Given the description of an element on the screen output the (x, y) to click on. 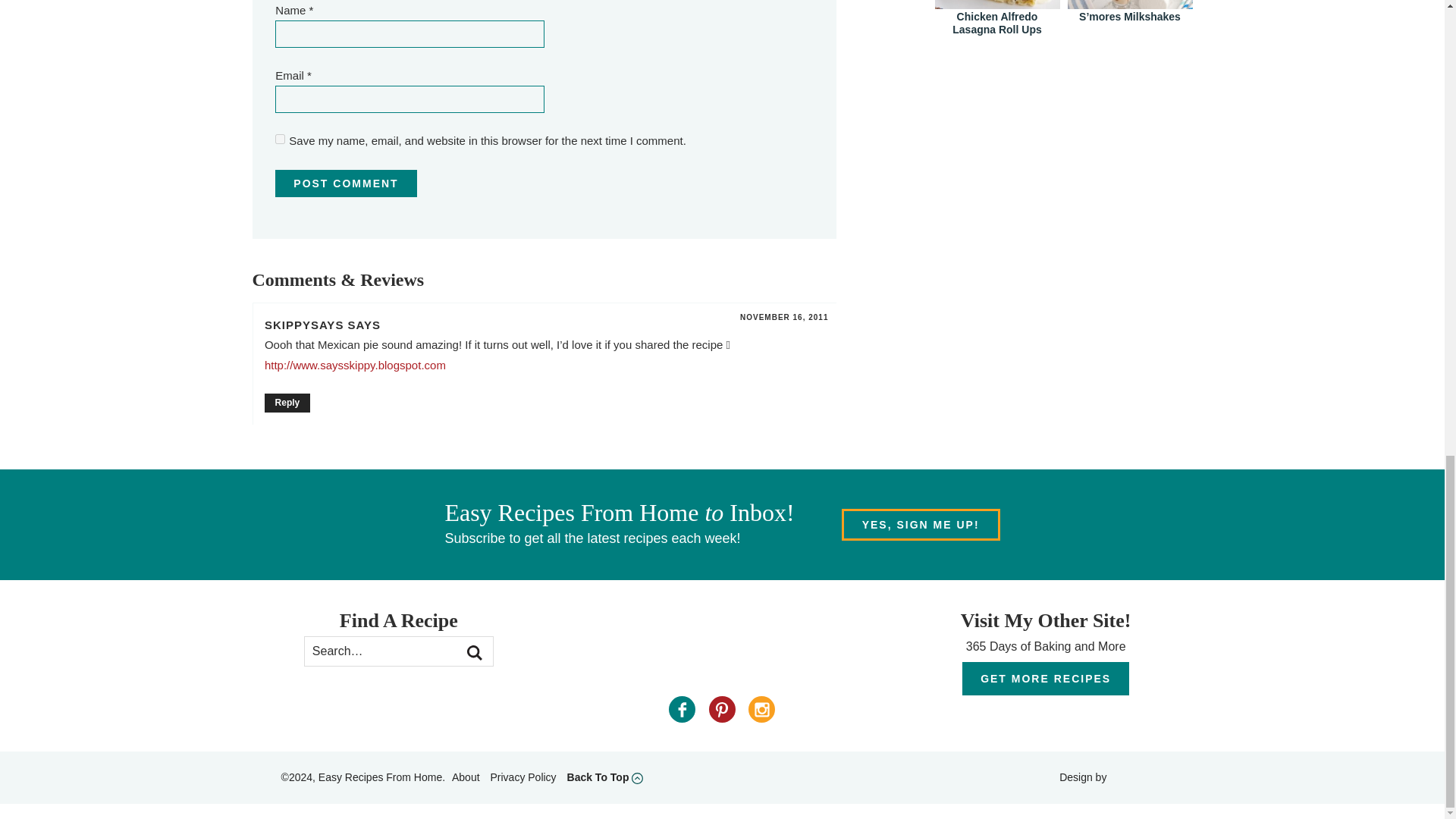
Post Comment (345, 183)
SKIPPYSAYS (303, 324)
Reply (287, 402)
Search for (398, 651)
Post Comment (345, 183)
yes (280, 139)
